Given the description of an element on the screen output the (x, y) to click on. 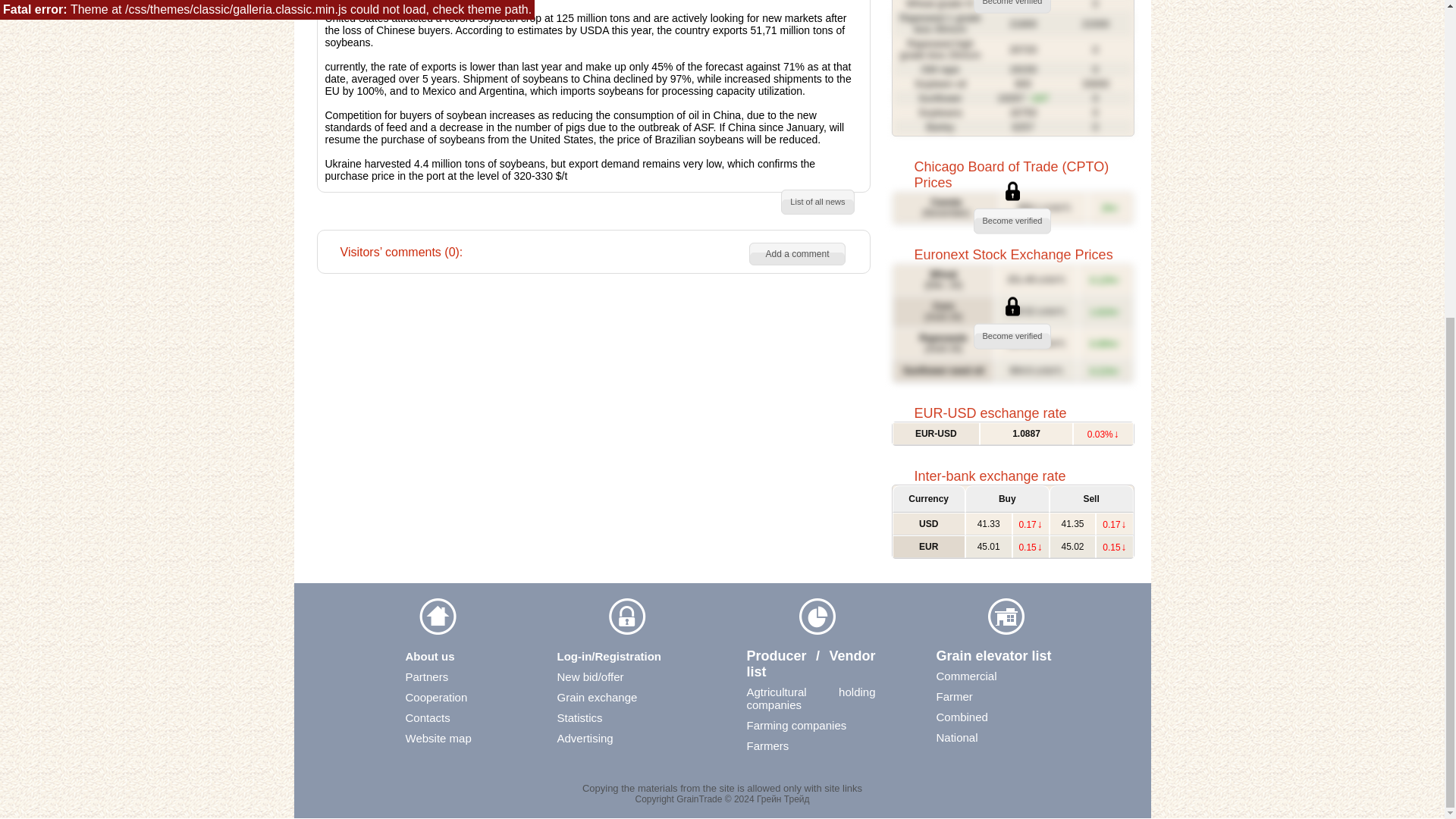
About us (465, 656)
Partners (465, 676)
Cooperation (465, 697)
Become verified (1013, 2)
Website map (465, 738)
List of all news (817, 201)
Become verified (1013, 219)
Become verified (1013, 335)
List of all news (816, 201)
Only verified users can view this information (1012, 68)
Become verified (1013, 219)
Contacts (465, 717)
Become verified (1013, 2)
Only verified users can view this information (1012, 207)
Add a comment (796, 253)
